Given the description of an element on the screen output the (x, y) to click on. 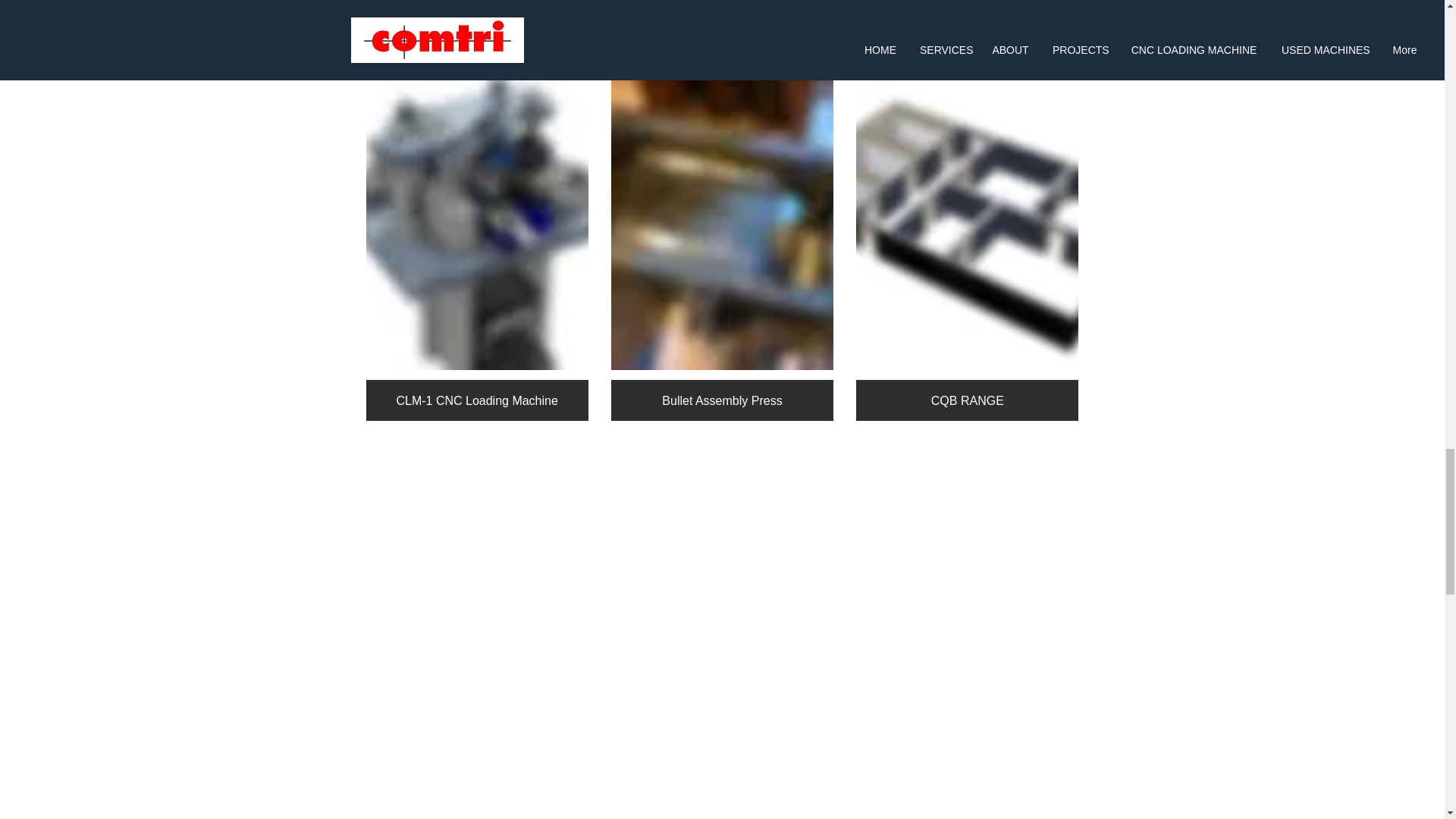
CLM-1 CNC Loading Machine (476, 246)
Bullet Assembly Press (721, 246)
